Given the description of an element on the screen output the (x, y) to click on. 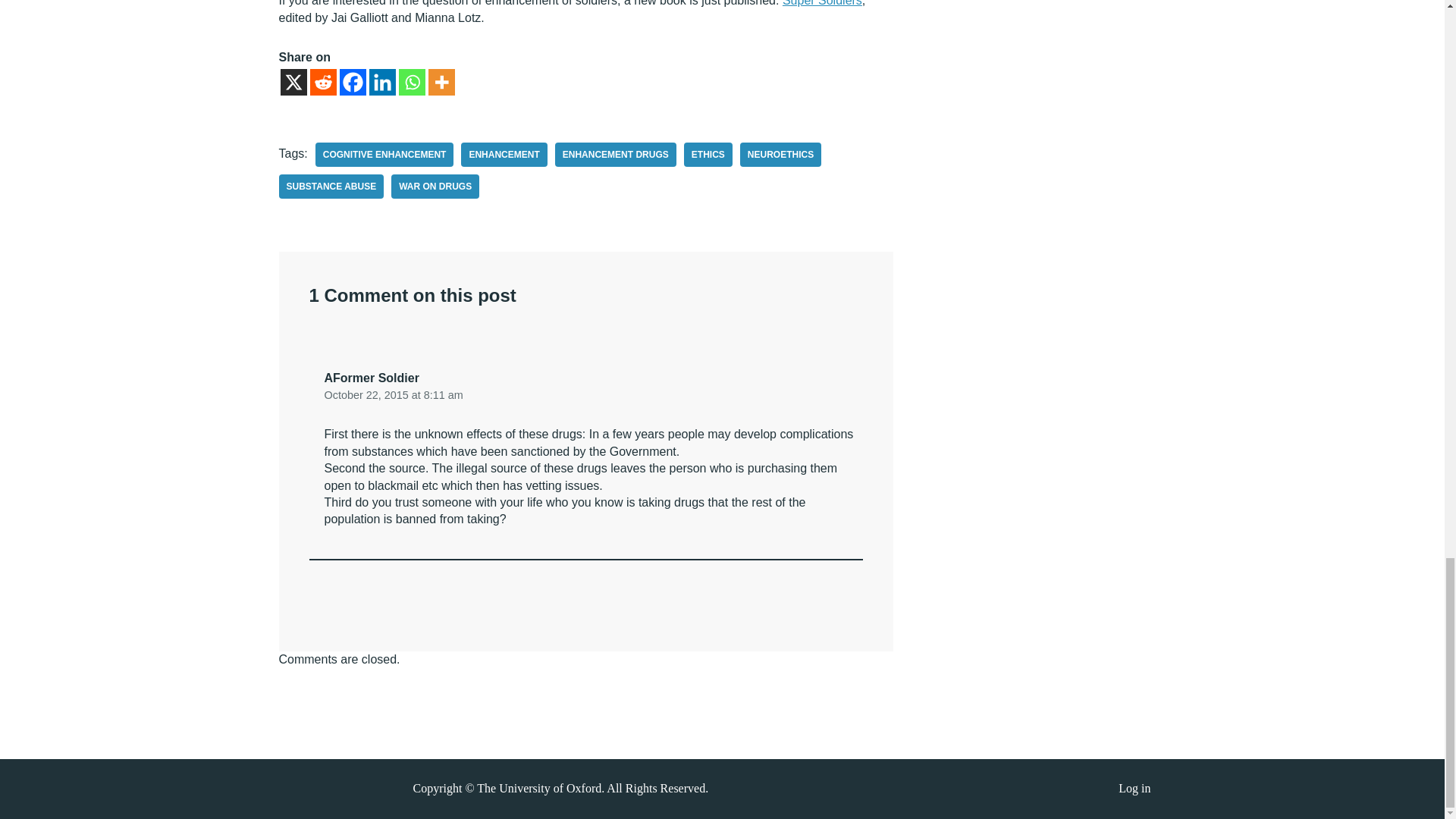
ENHANCEMENT (504, 154)
enhancement (504, 154)
More (441, 81)
Whatsapp (411, 81)
Super Soldiers (822, 3)
Reddit (322, 81)
COGNITIVE ENHANCEMENT (384, 154)
ETHICS (708, 154)
Linkedin (381, 81)
ethics (708, 154)
